Given the description of an element on the screen output the (x, y) to click on. 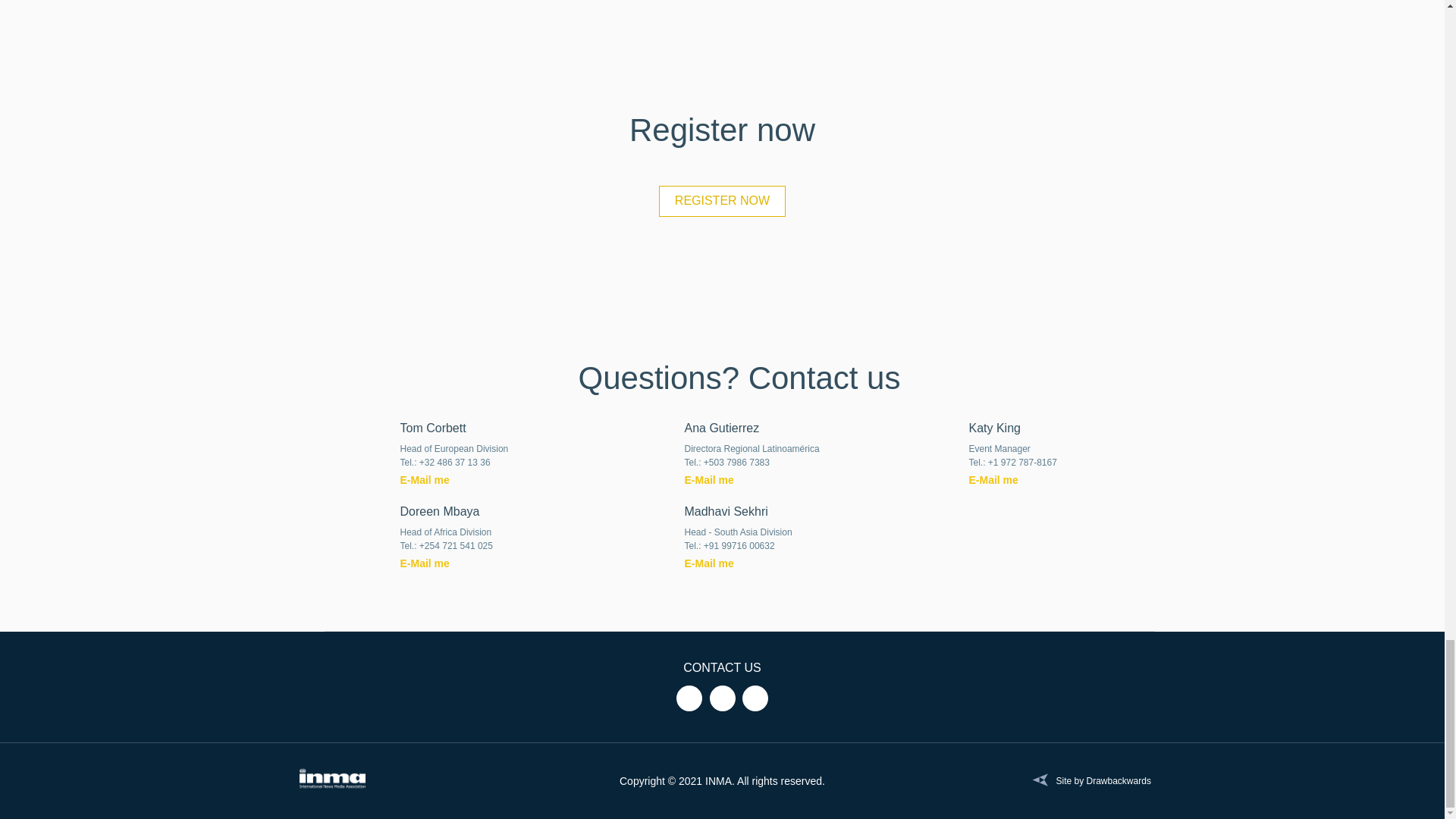
E-Mail me (718, 563)
E-Mail me (434, 480)
Site by Drawbackwards (1088, 779)
REGISTER NOW (722, 201)
E-Mail me (718, 480)
E-Mail me (1002, 480)
E-Mail me (434, 563)
